Given the description of an element on the screen output the (x, y) to click on. 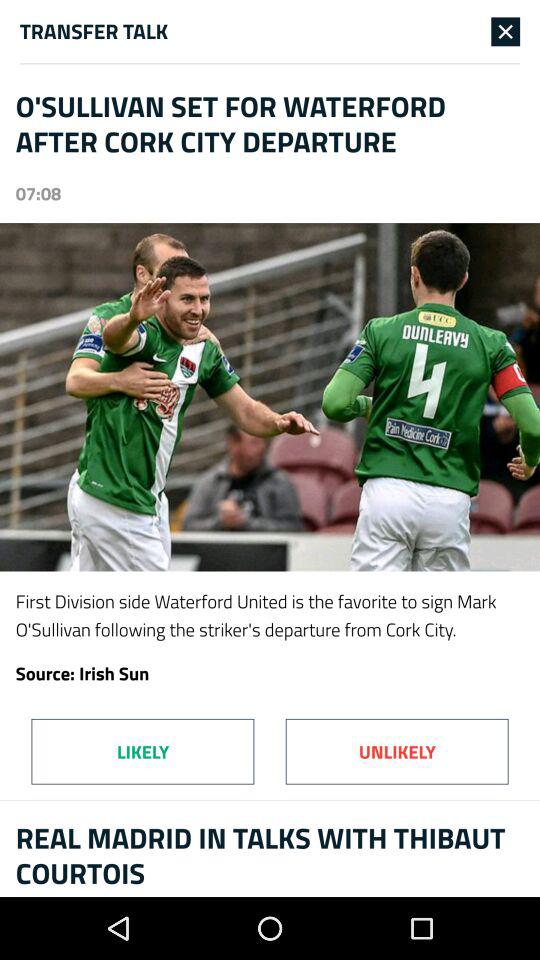
turn off likely at the bottom left corner (142, 751)
